Given the description of an element on the screen output the (x, y) to click on. 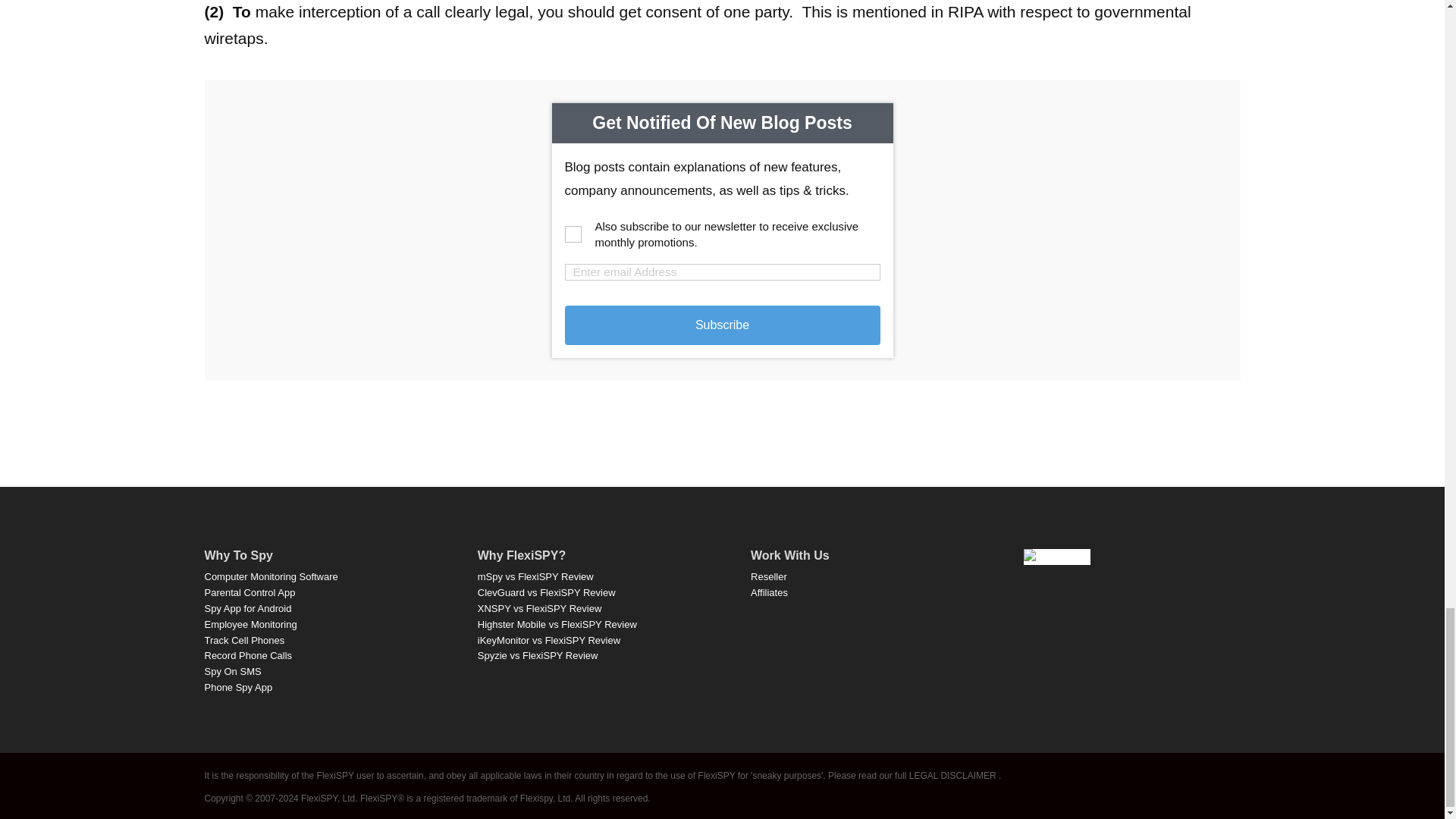
Phone Spy App (239, 686)
Spy App for Android (248, 608)
Track Cell Phones (245, 639)
Parental Control App (250, 592)
Computer Monitoring Software (271, 576)
Record Phone Calls (248, 655)
Spy On SMS (233, 671)
Employee Monitoring (251, 624)
mSpy vs FlexiSPY Review (535, 576)
